Given the description of an element on the screen output the (x, y) to click on. 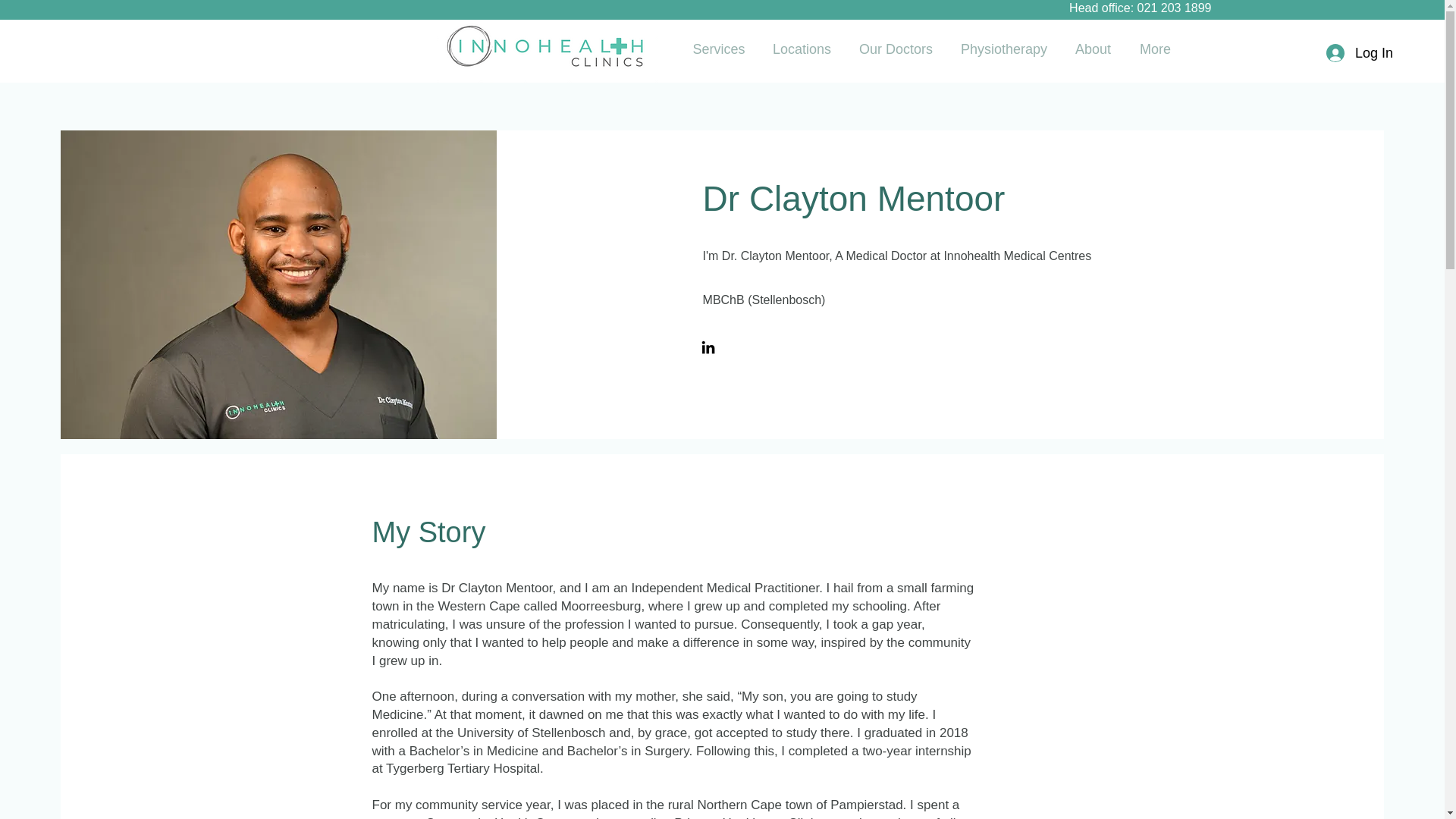
Services (718, 49)
Log In (1359, 53)
Locations (801, 49)
About (1093, 49)
image2.png (547, 49)
Physiotherapy (1004, 49)
